Given the description of an element on the screen output the (x, y) to click on. 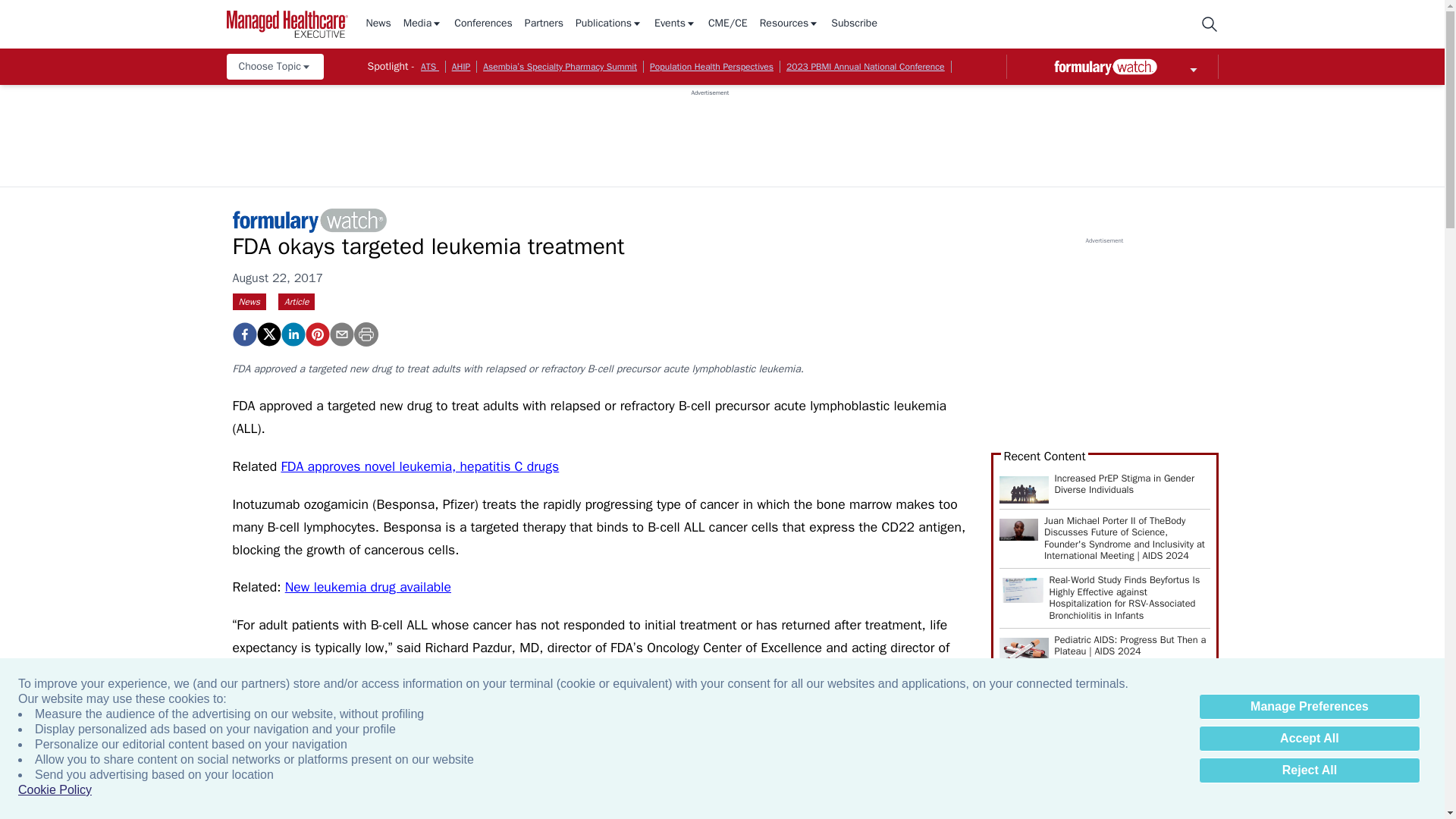
FDA okays targeted leukemia treatment (243, 334)
Cookie Policy (54, 789)
Publications (608, 23)
Choose Topic (274, 66)
Media (422, 23)
3rd party ad content (709, 131)
Resources (789, 23)
Events (674, 23)
Accept All (1309, 738)
Manage Preferences (1309, 706)
FDA okays targeted leukemia treatment (316, 334)
Subscribe (854, 23)
Conferences (483, 23)
Partners (543, 23)
News (377, 23)
